Given the description of an element on the screen output the (x, y) to click on. 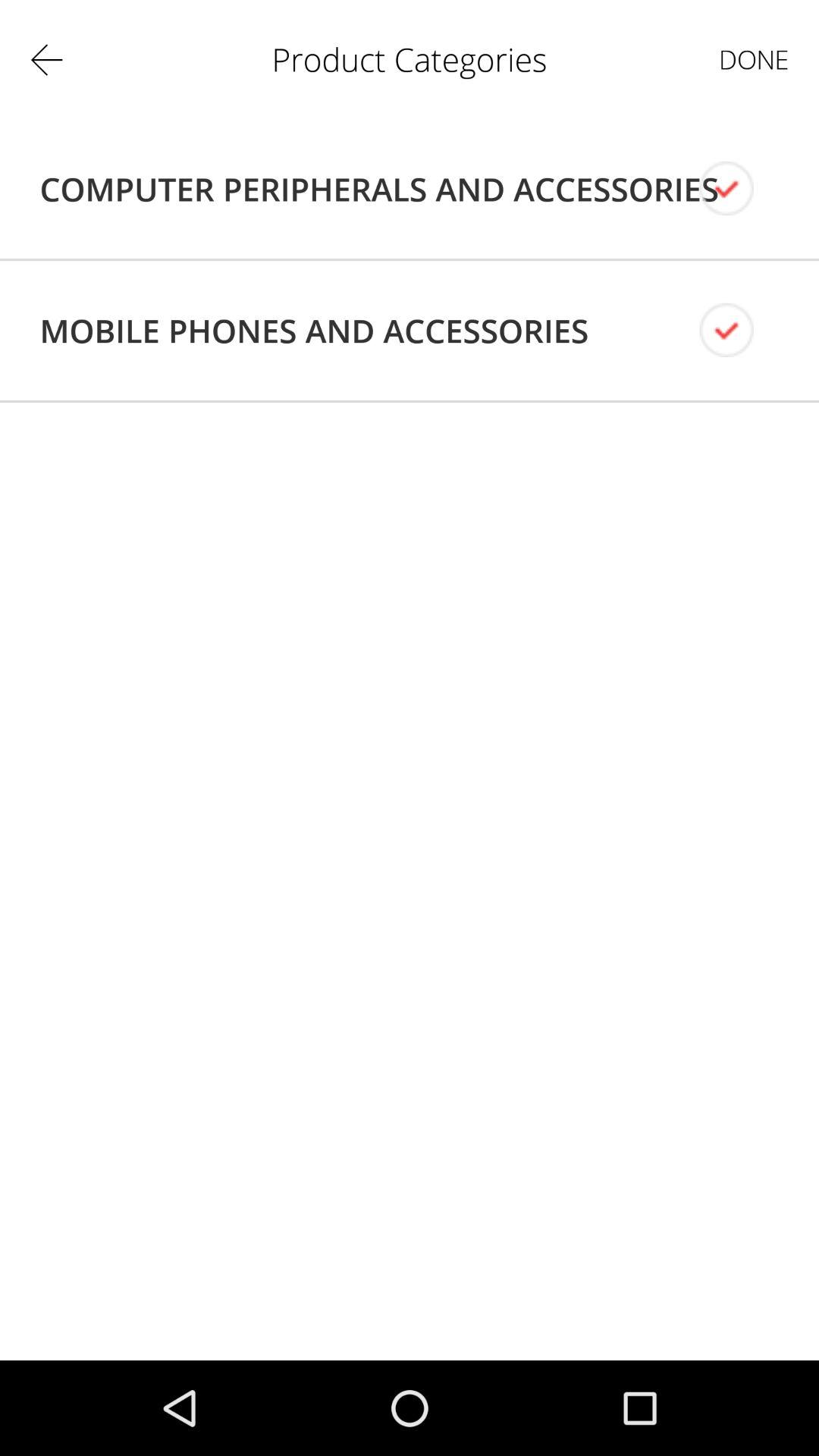
flip until computer peripherals and icon (378, 188)
